Given the description of an element on the screen output the (x, y) to click on. 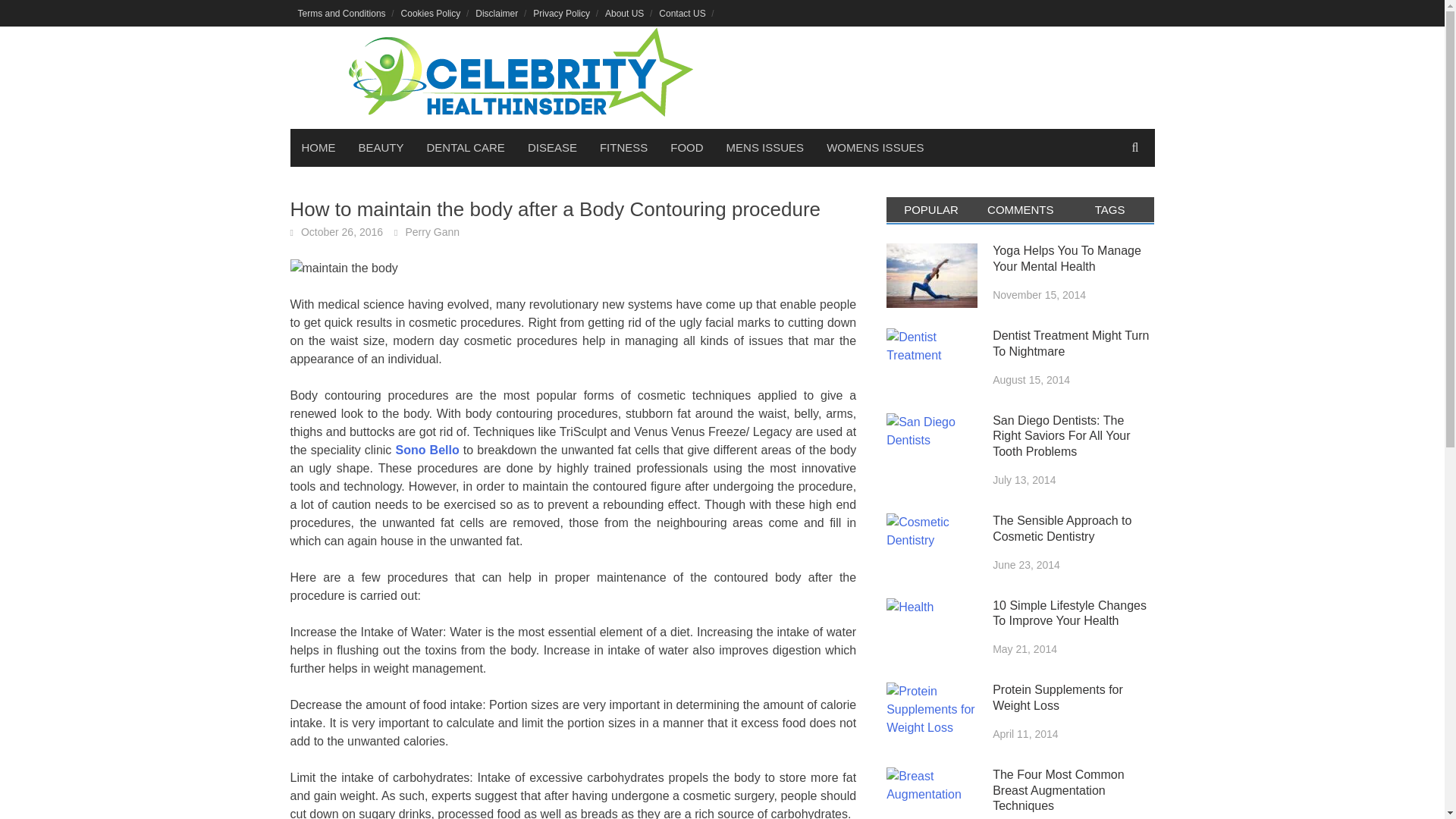
Sono Bello (426, 449)
October 26, 2016 (341, 232)
About US (623, 13)
COMMENTS (1020, 209)
Terms and Conditions (341, 13)
Contact US (681, 13)
The Sensible Approach to Cosmetic Dentistry (931, 545)
How to maintain the body after a Body Contouring procedure (343, 268)
DENTAL CARE (465, 147)
TAGS (1109, 209)
